Given the description of an element on the screen output the (x, y) to click on. 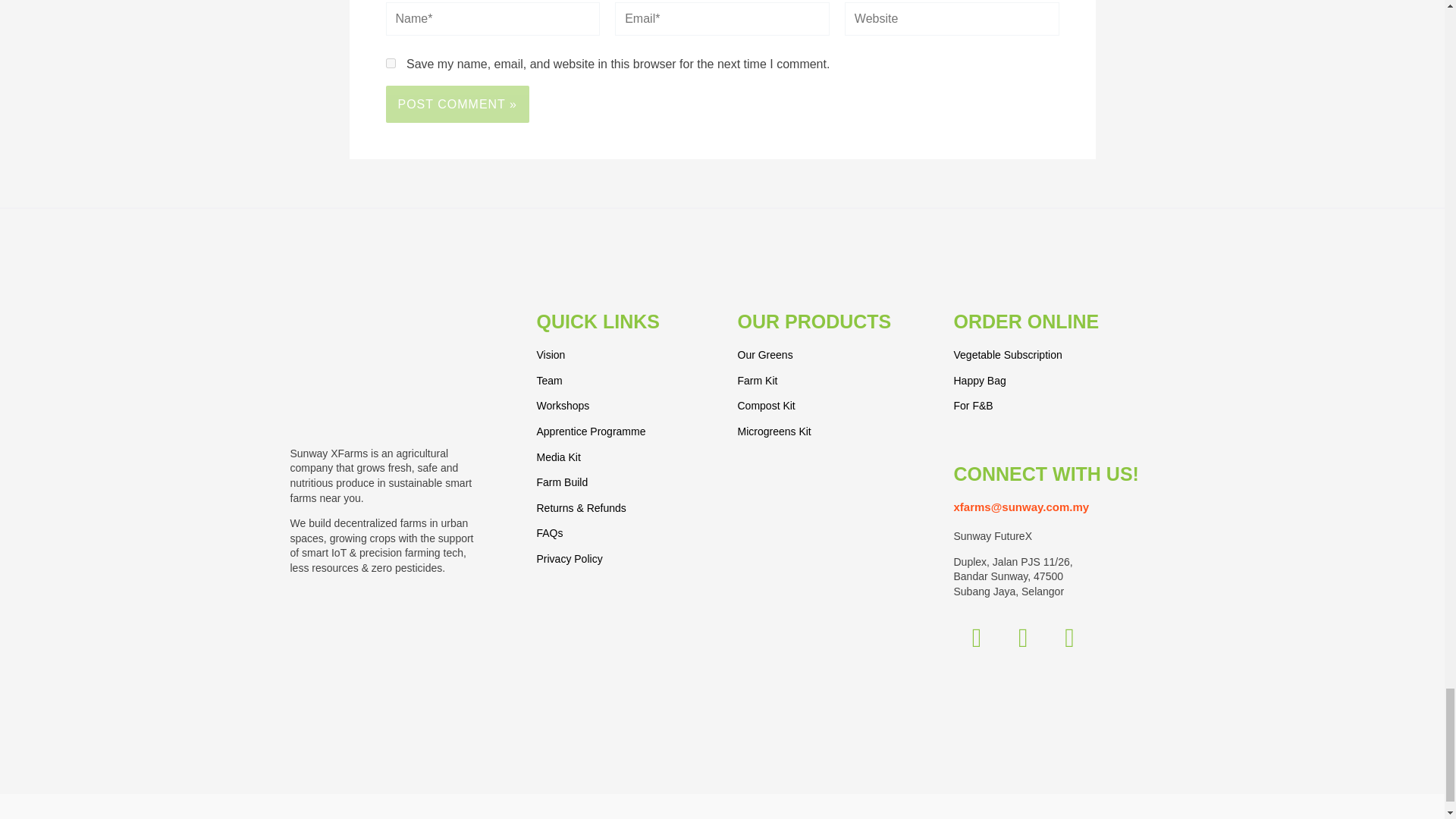
yes (389, 62)
